Given the description of an element on the screen output the (x, y) to click on. 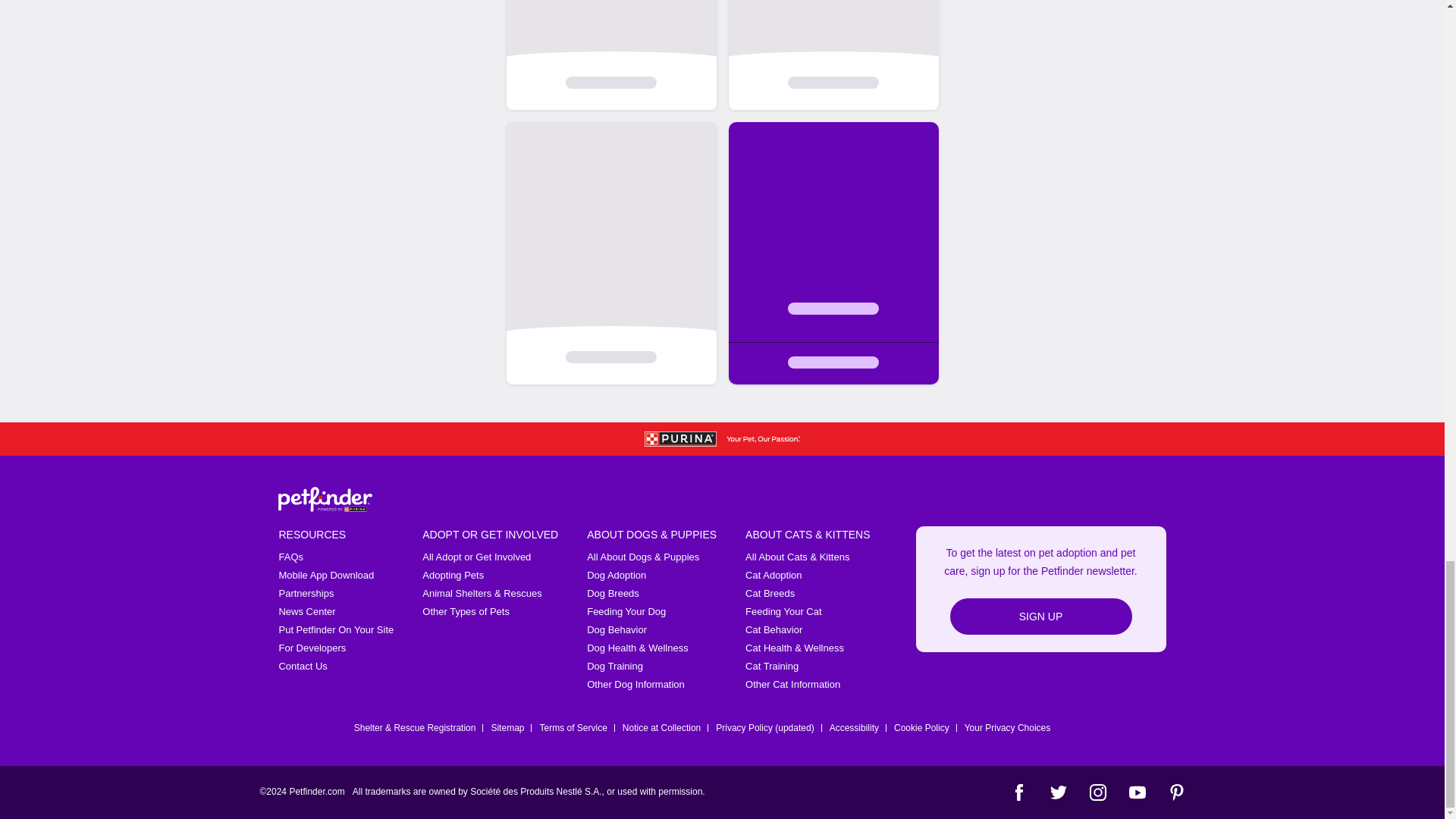
youtube (1136, 791)
twitter (1057, 791)
facebook (1018, 791)
instagram (1097, 791)
Petfinder Logo (325, 499)
pinterest (1176, 791)
